Given the description of an element on the screen output the (x, y) to click on. 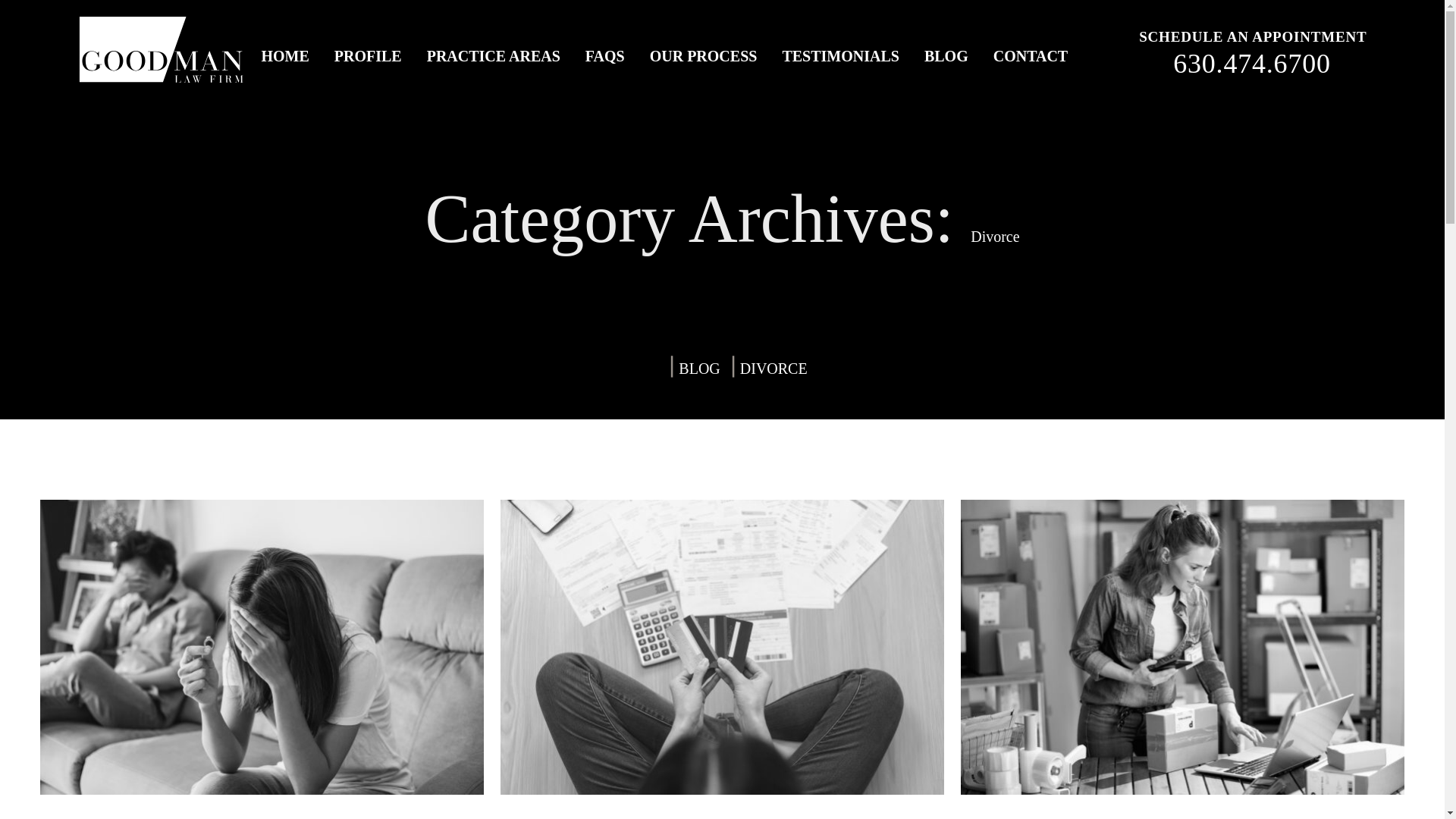
PROFILE (368, 56)
HOME (285, 56)
Go to Goodman Law Firm. (648, 368)
Go to Blog. (698, 367)
